Given the description of an element on the screen output the (x, y) to click on. 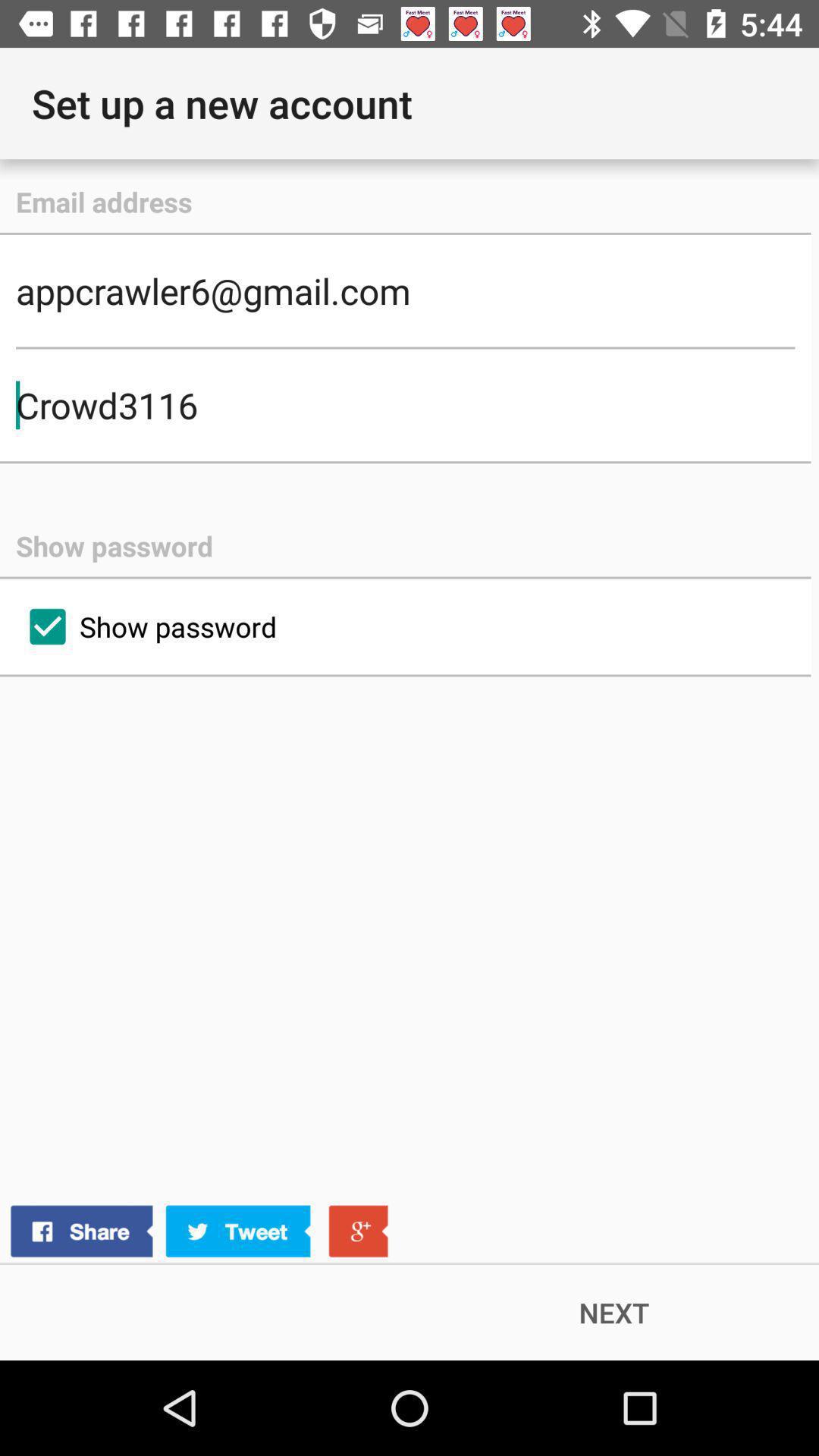
swipe to crowd3116 icon (405, 405)
